Given the description of an element on the screen output the (x, y) to click on. 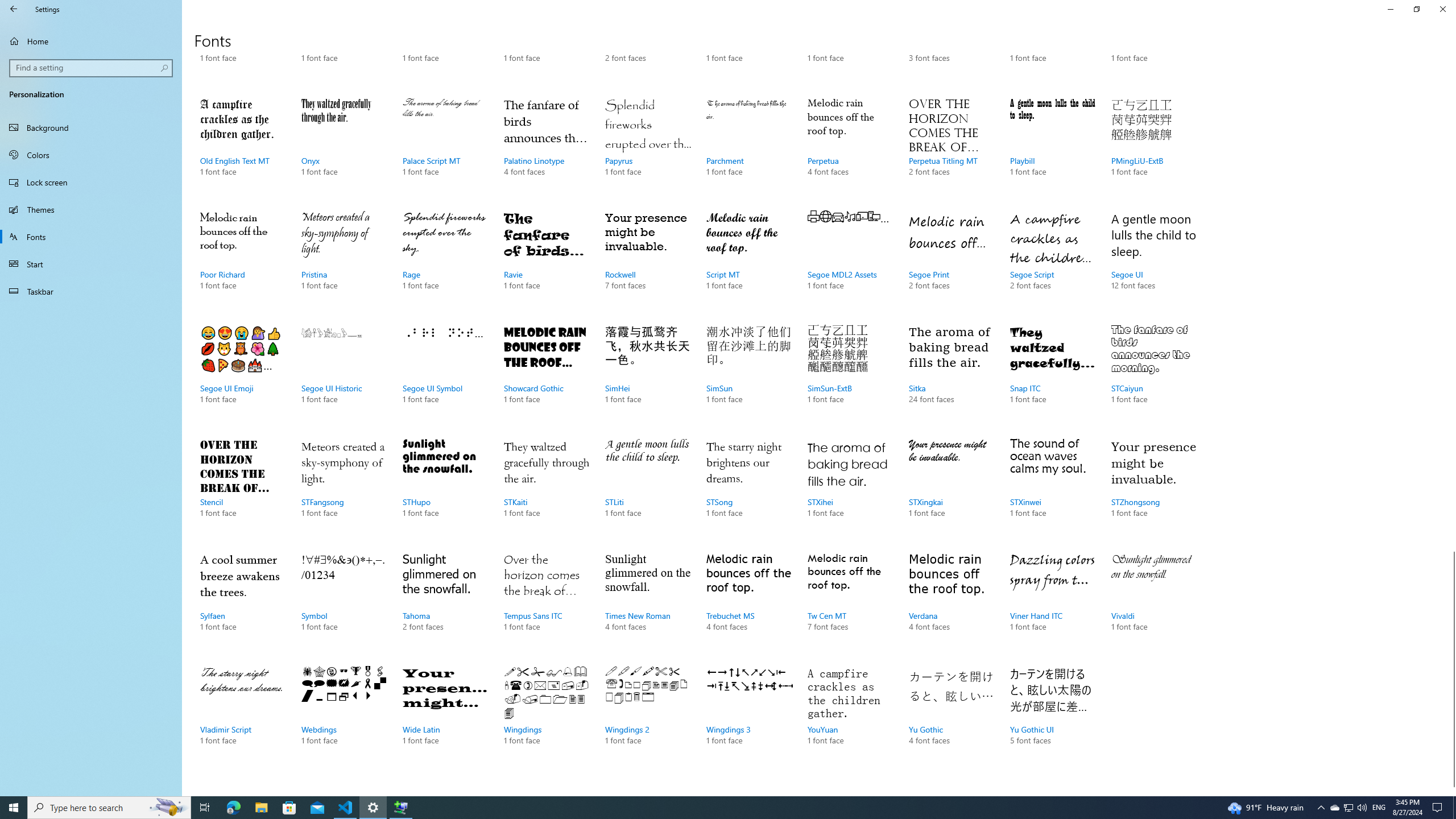
MV Boli, 1 font face (545, 45)
Symbol, 1 font face (343, 603)
SimSun-ExtB, 1 font face (850, 375)
Search box, Find a setting (91, 67)
